Given the description of an element on the screen output the (x, y) to click on. 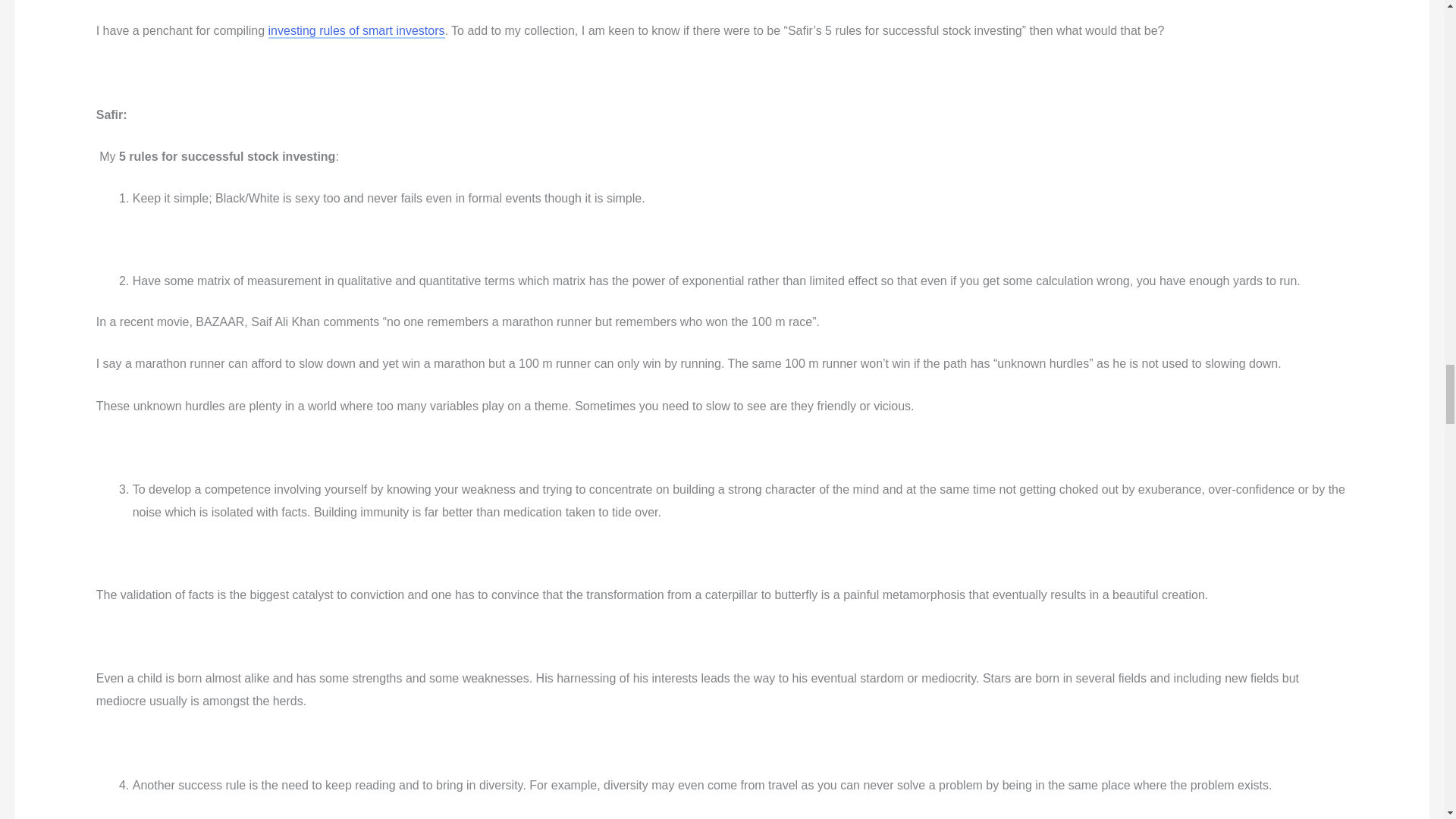
investing rules of smart investors (356, 31)
